Given the description of an element on the screen output the (x, y) to click on. 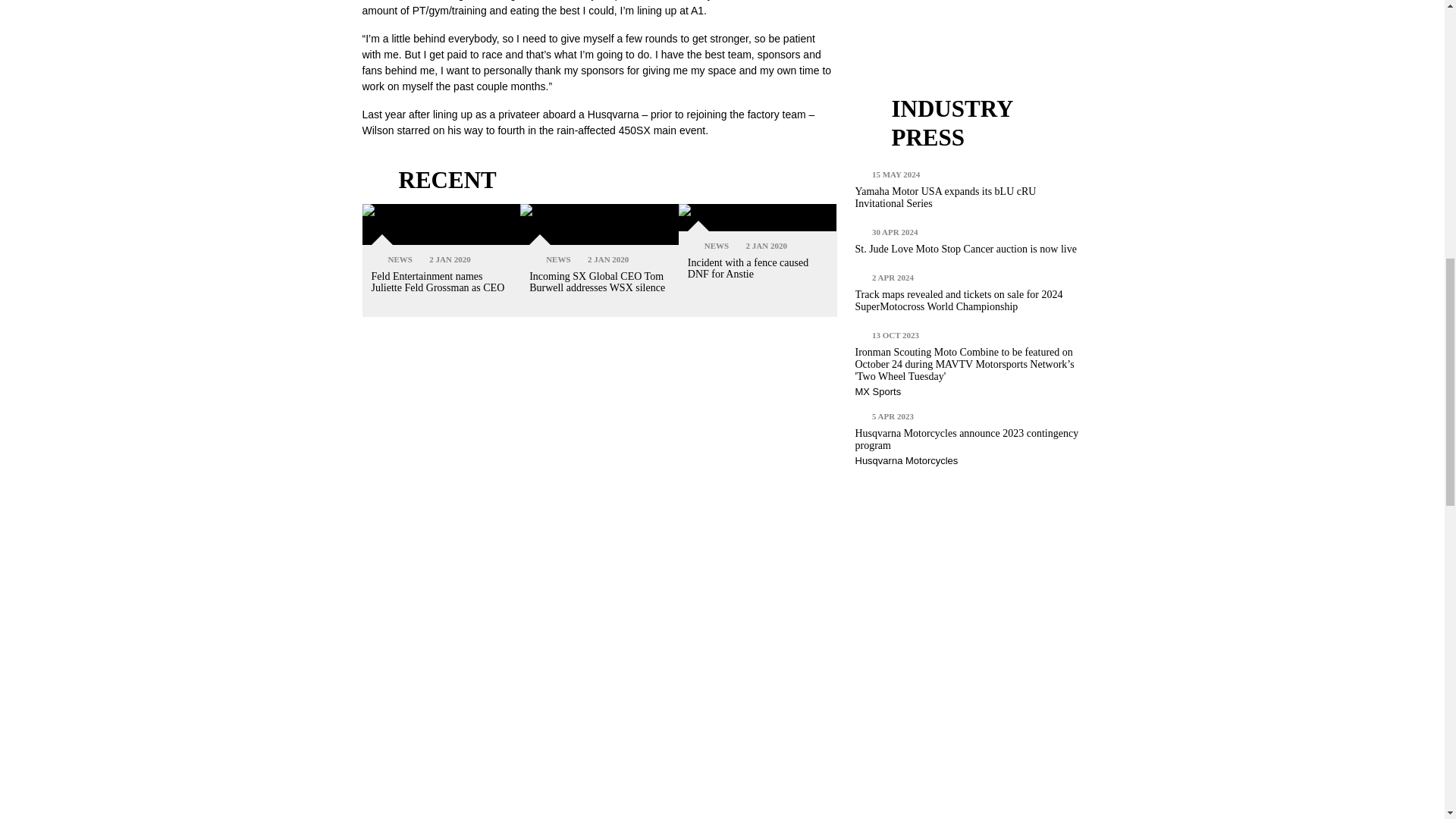
Feld Entertainment names Juliette Feld Grossman as CEO (438, 282)
Incoming SX Global CEO Tom Burwell addresses WSX silence (598, 223)
Incoming SX Global CEO Tom Burwell addresses WSX silence (597, 282)
Incident with a fence caused DNF for Anstie (757, 216)
Feld Entertainment names Juliette Feld Grossman as CEO (441, 223)
